Given the description of an element on the screen output the (x, y) to click on. 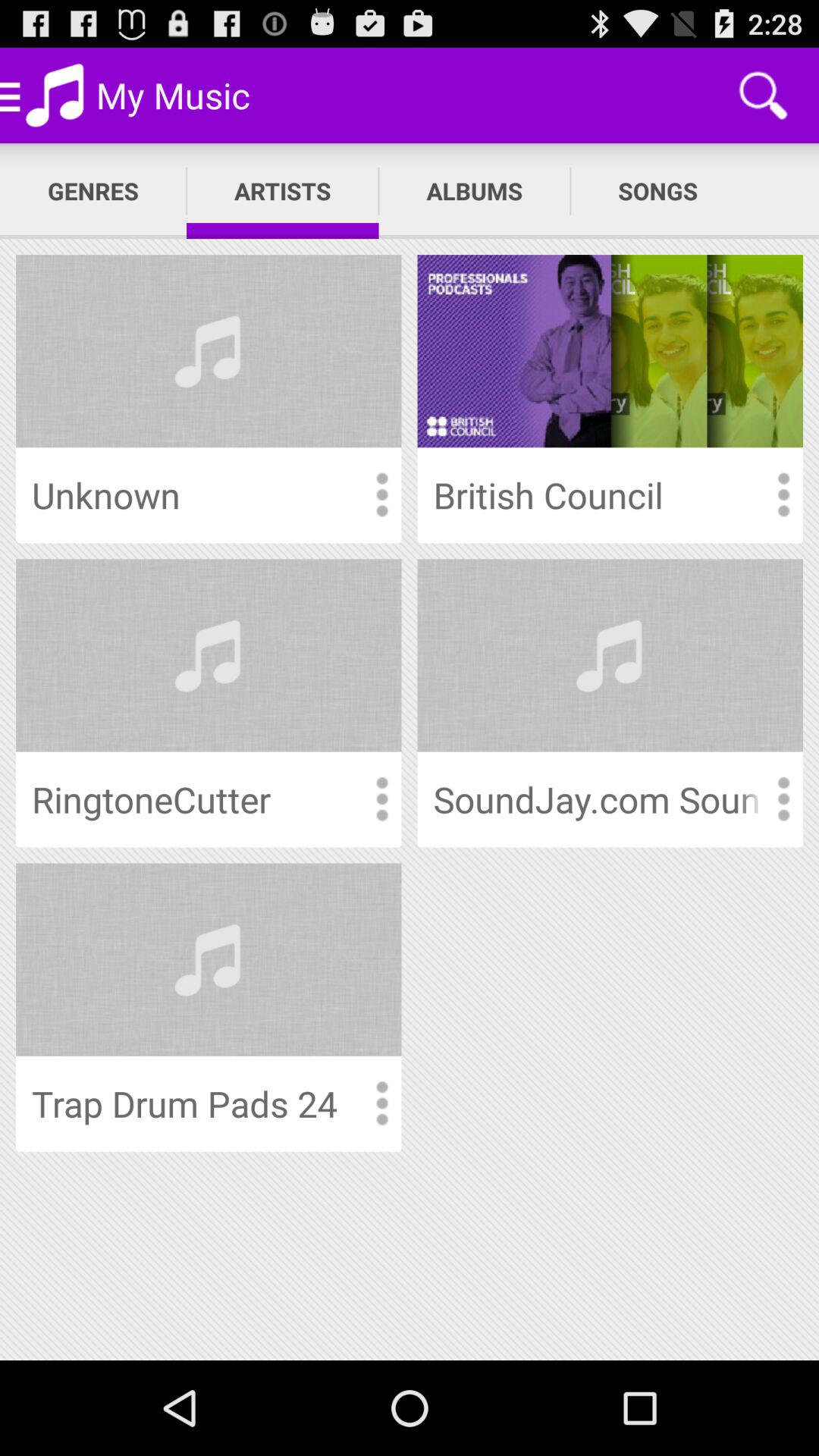
choose more options (381, 799)
